Given the description of an element on the screen output the (x, y) to click on. 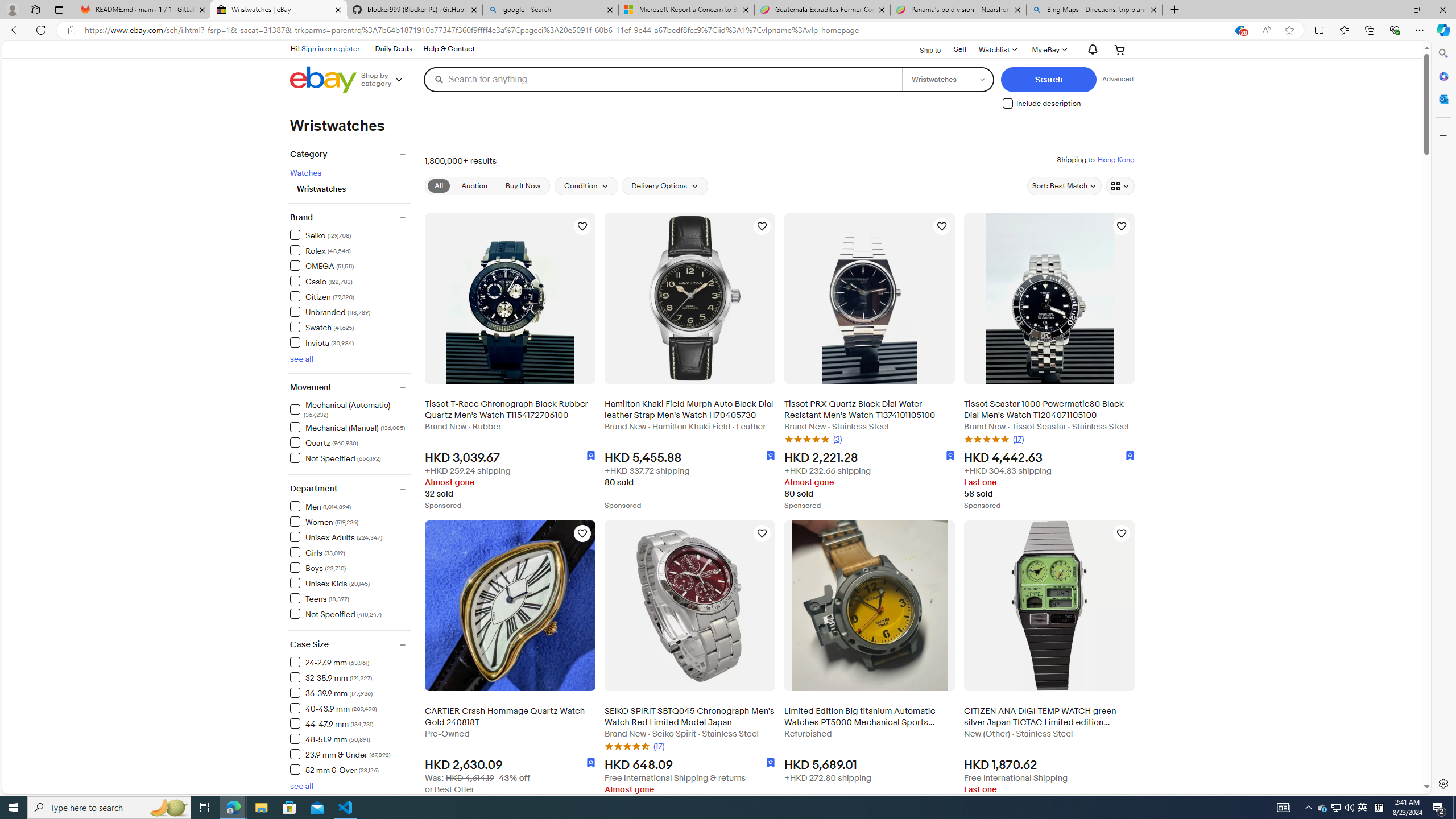
eBay Home (322, 79)
CategoryWatchesSelected categoryWristwatches (349, 176)
Unisex Kids(20,145) Items (349, 582)
44-47.9 mm(134,731) Items (349, 722)
Advanced Search (1115, 78)
Unbranded(118,789) Items (349, 311)
23.9 mm & Under(67,892) Items (349, 753)
AutomationID: gh-eb-Alerts (1091, 49)
Quartz (960,930) Items (323, 442)
Buy It Now (522, 185)
